Given the description of an element on the screen output the (x, y) to click on. 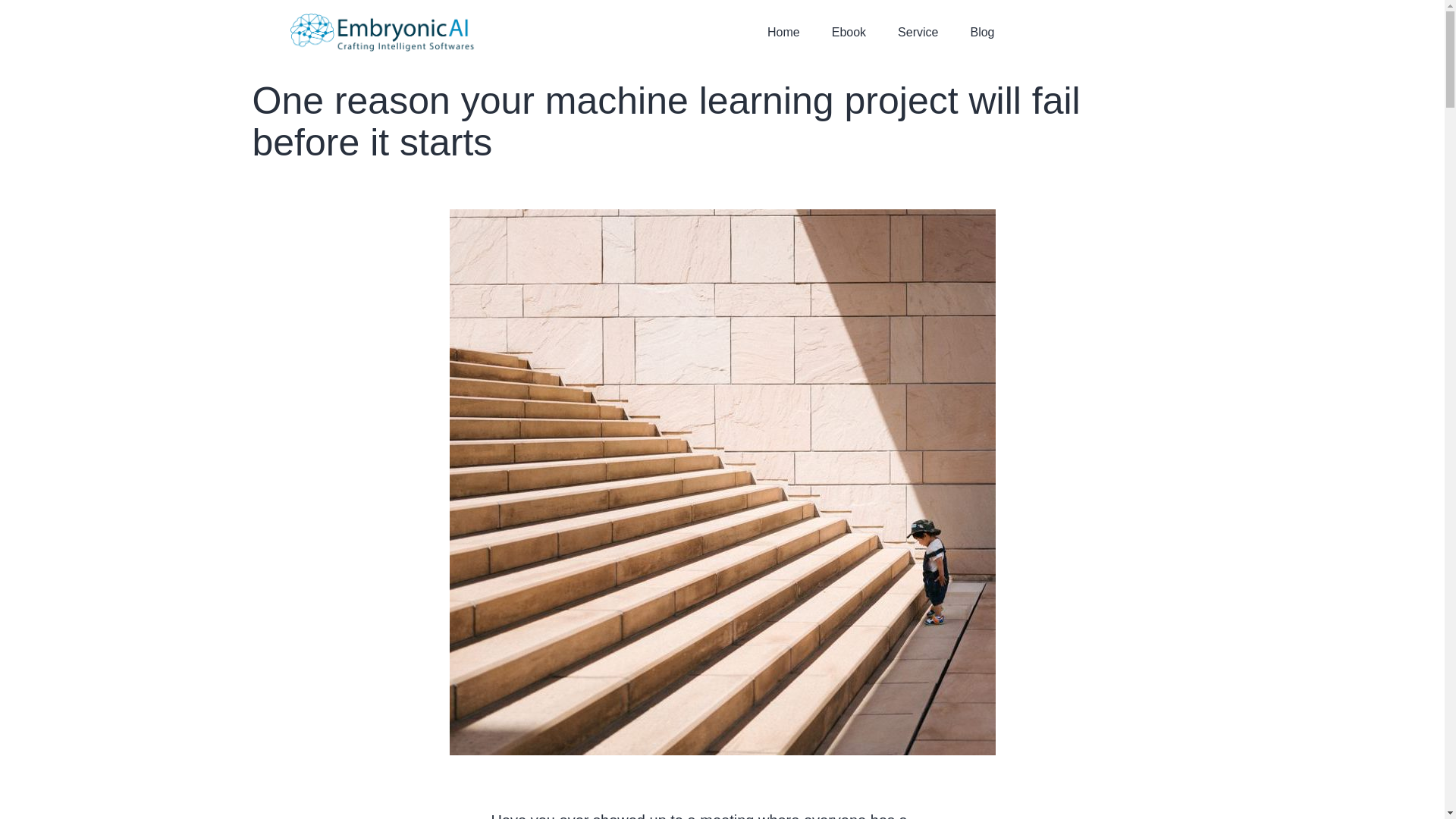
Blog (981, 32)
Service (917, 32)
Home (783, 32)
Ebook (848, 32)
